Given the description of an element on the screen output the (x, y) to click on. 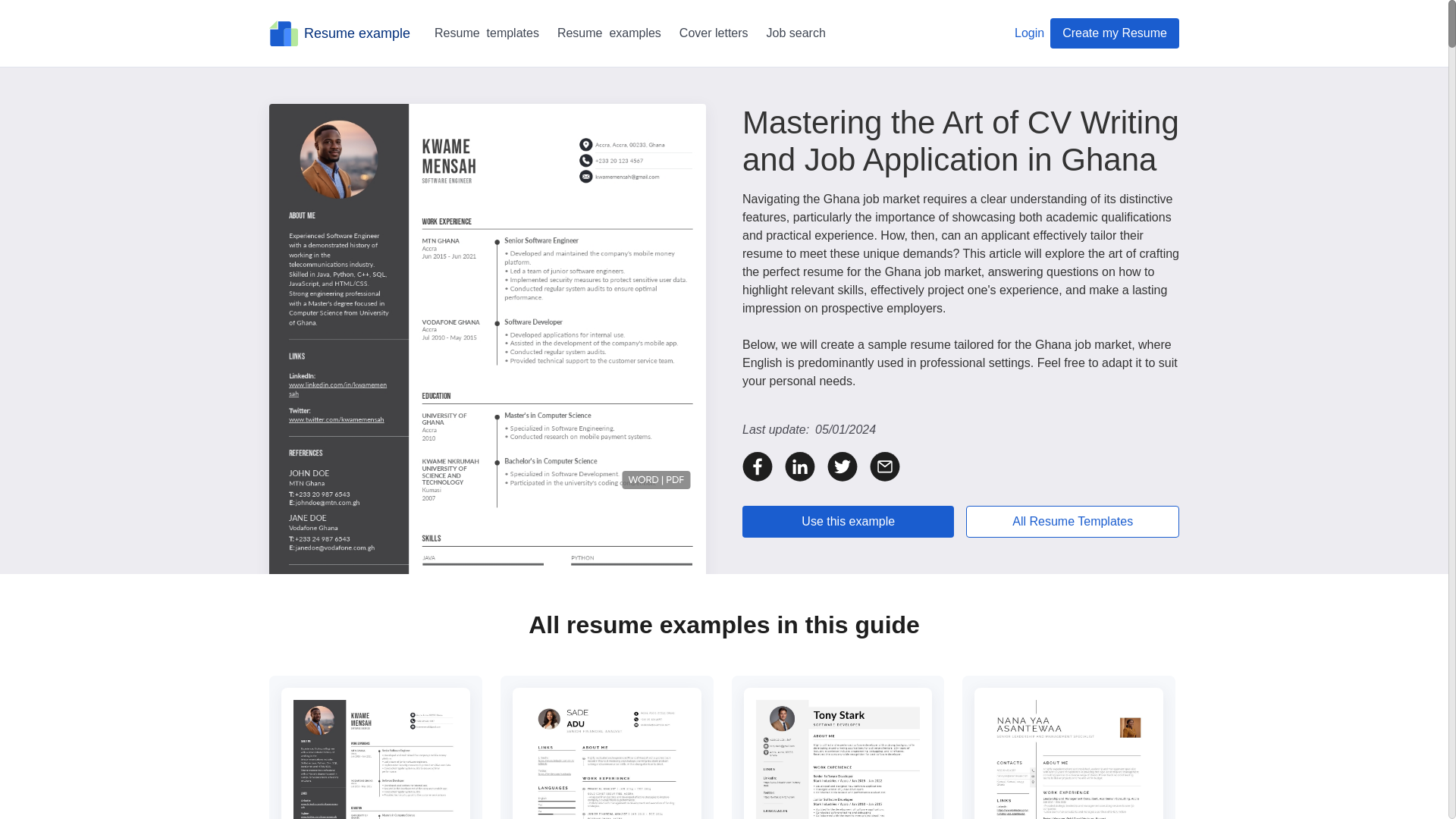
Job search (796, 33)
Login (1028, 33)
Create my Resume (1114, 33)
Cover letters (713, 33)
Resume example (339, 32)
Resume  templates (485, 33)
Resume  examples (609, 33)
All Resume Templates (1072, 521)
Use this example (847, 521)
